Given the description of an element on the screen output the (x, y) to click on. 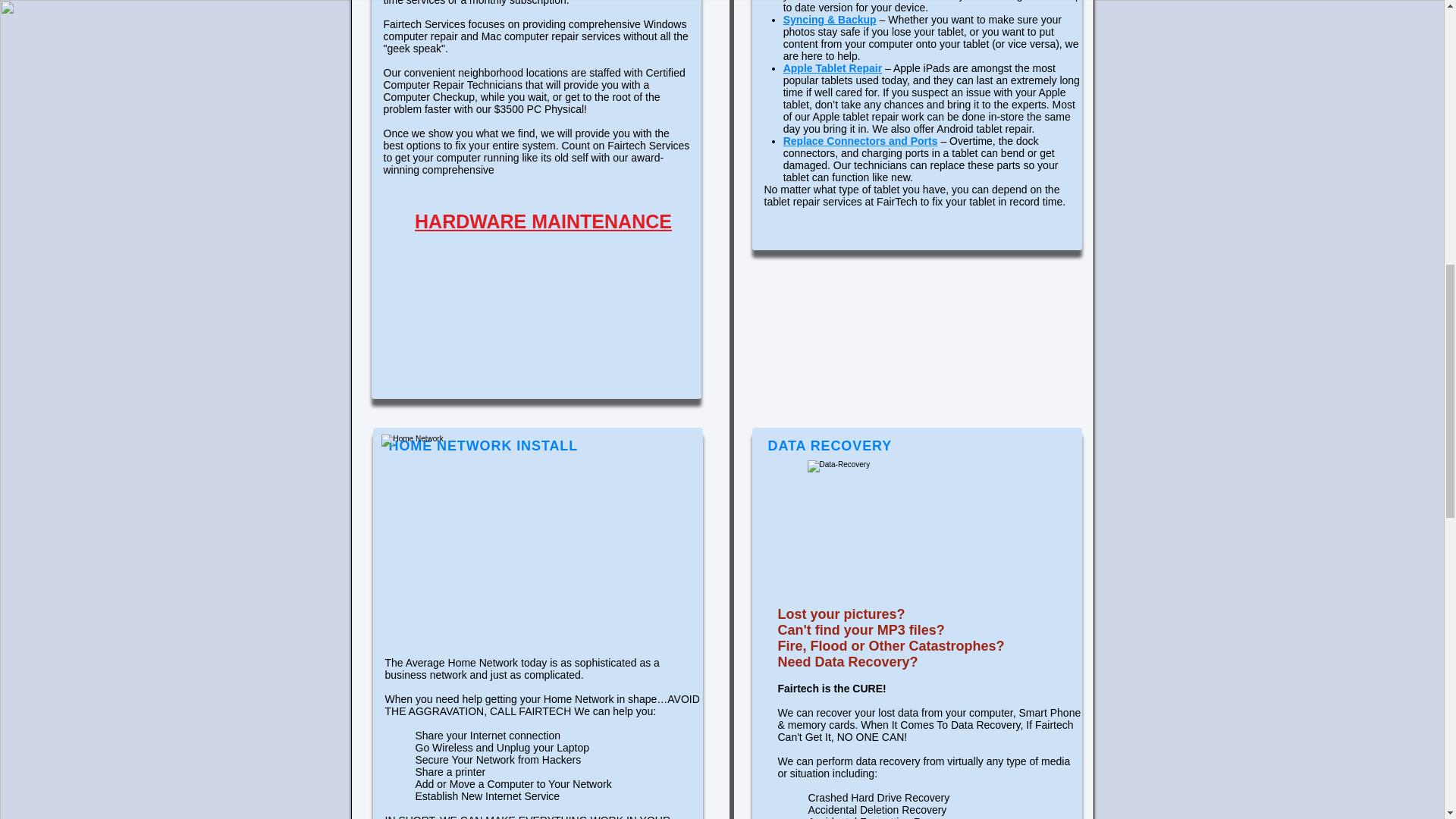
HARDWARE MAINTENANCE (542, 220)
Computer image.png (532, 541)
